Given the description of an element on the screen output the (x, y) to click on. 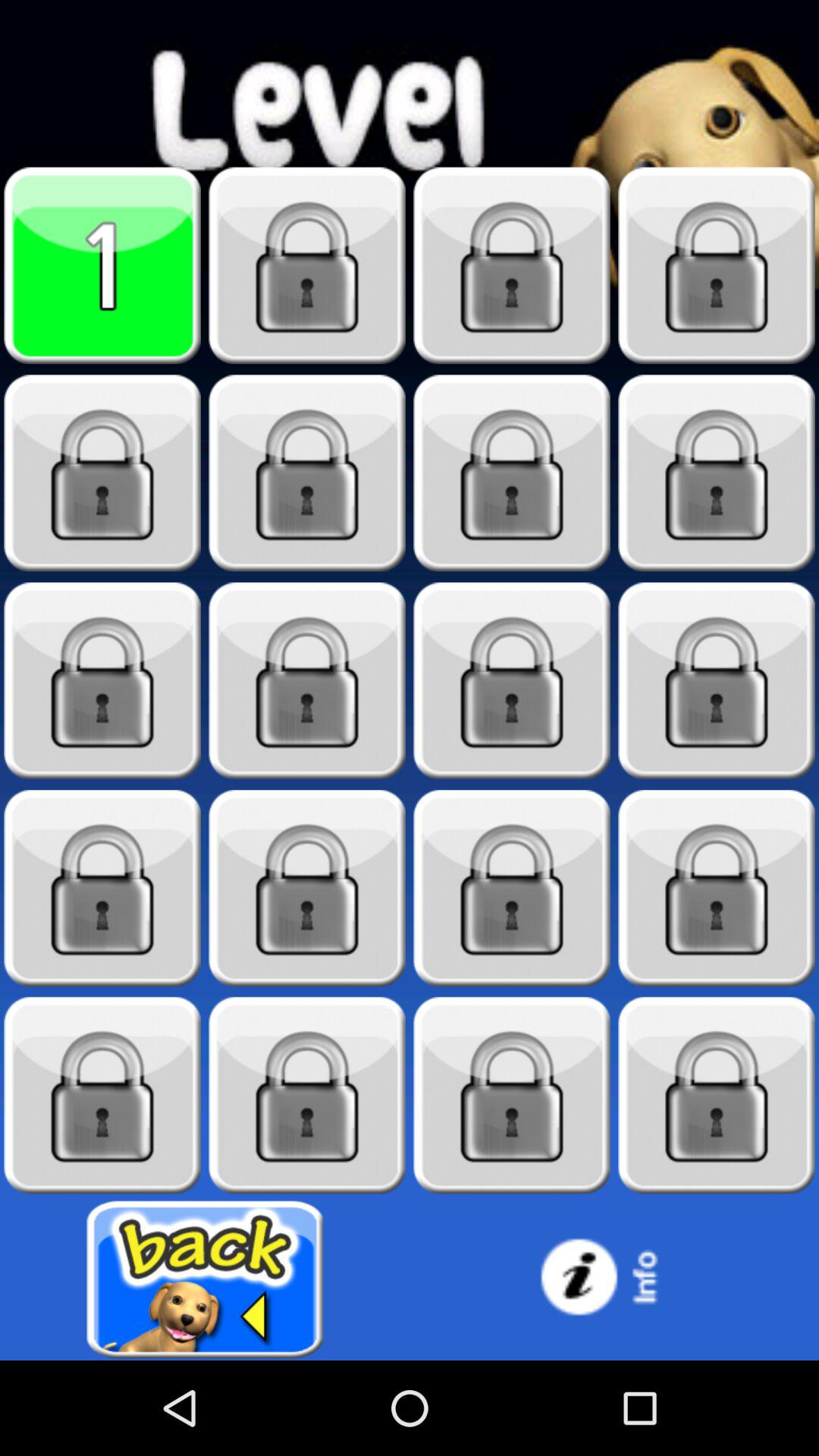
go back (204, 1279)
